Given the description of an element on the screen output the (x, y) to click on. 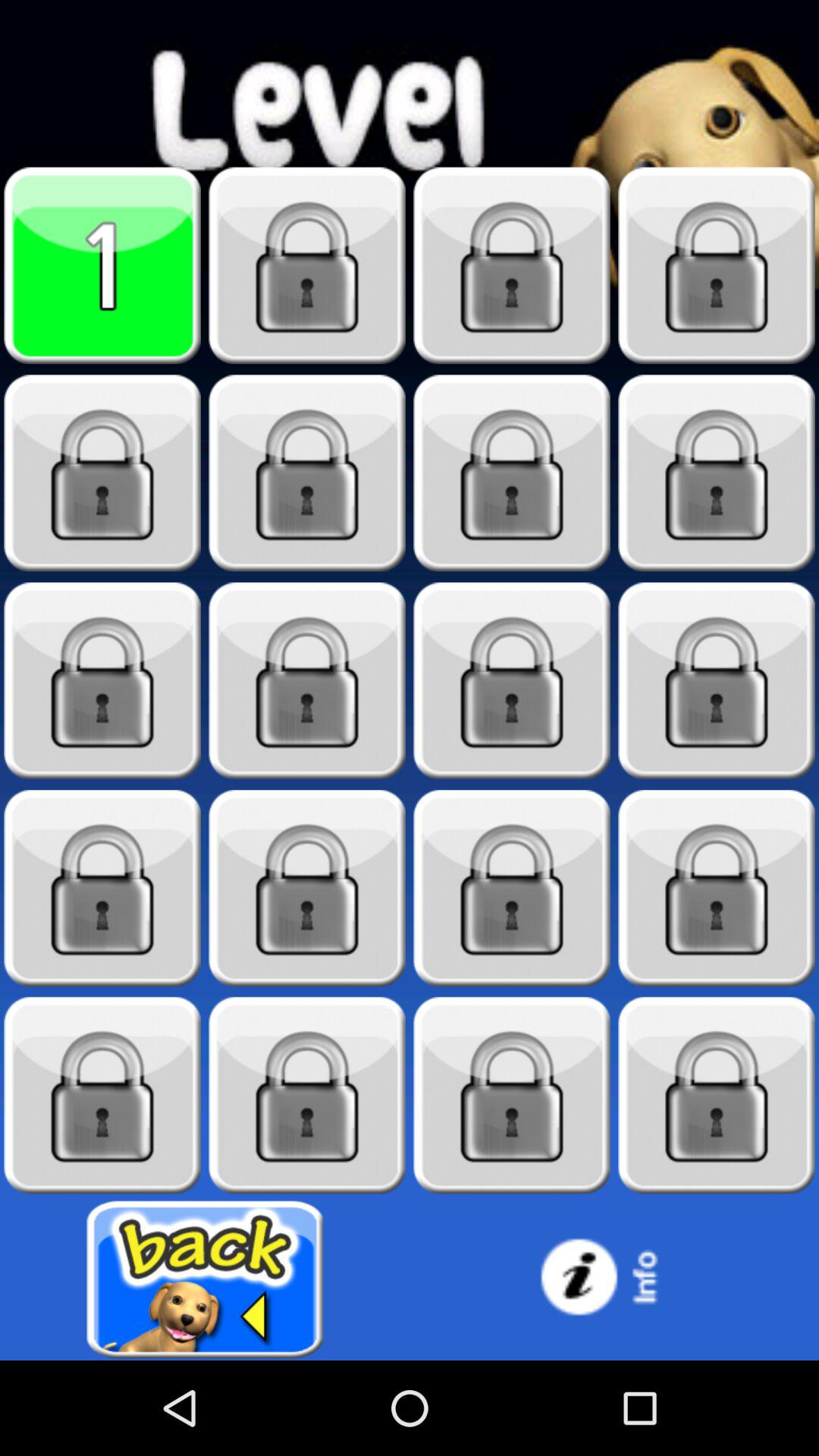
go back (204, 1279)
